Given the description of an element on the screen output the (x, y) to click on. 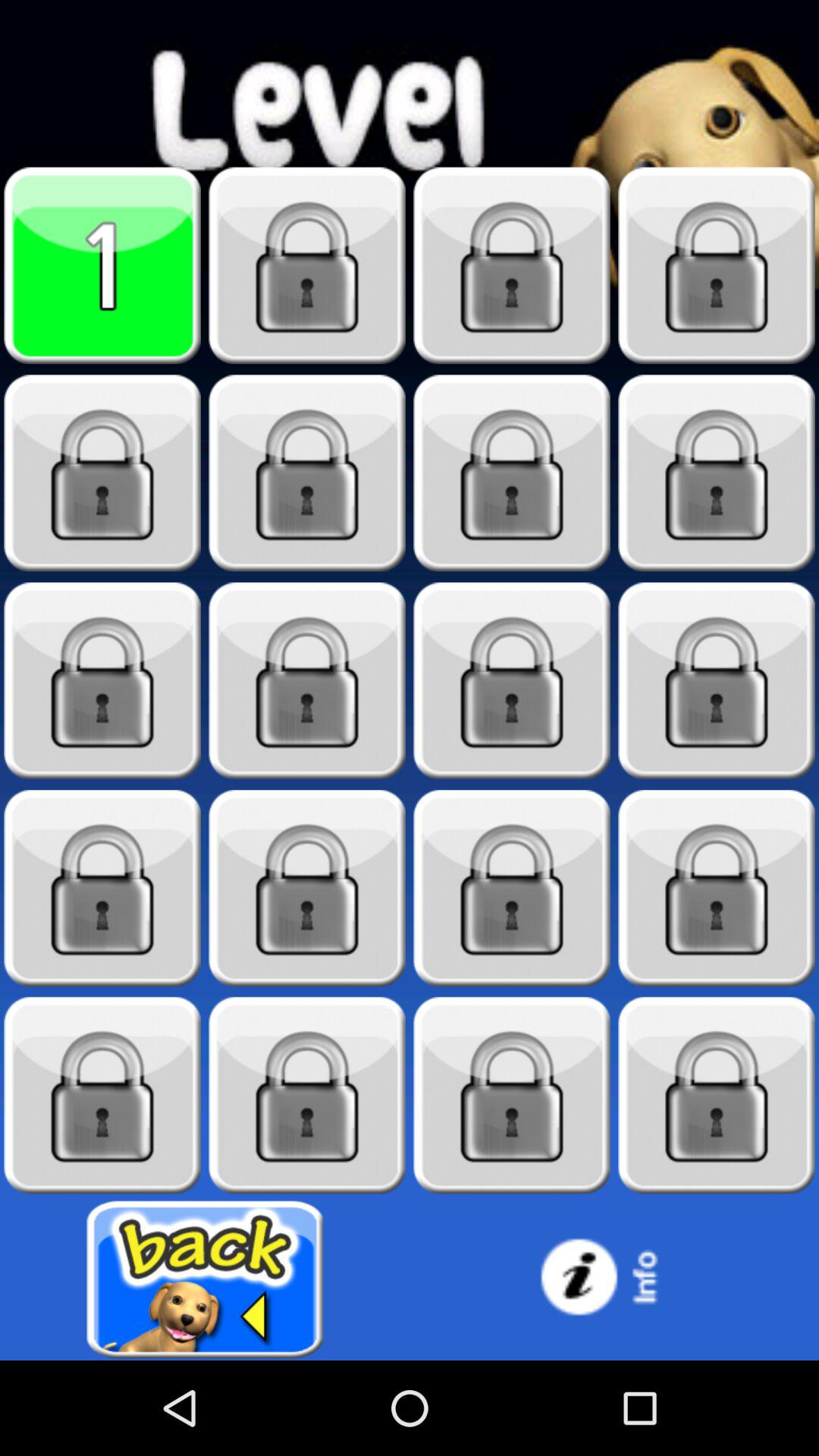
go back (204, 1279)
